Given the description of an element on the screen output the (x, y) to click on. 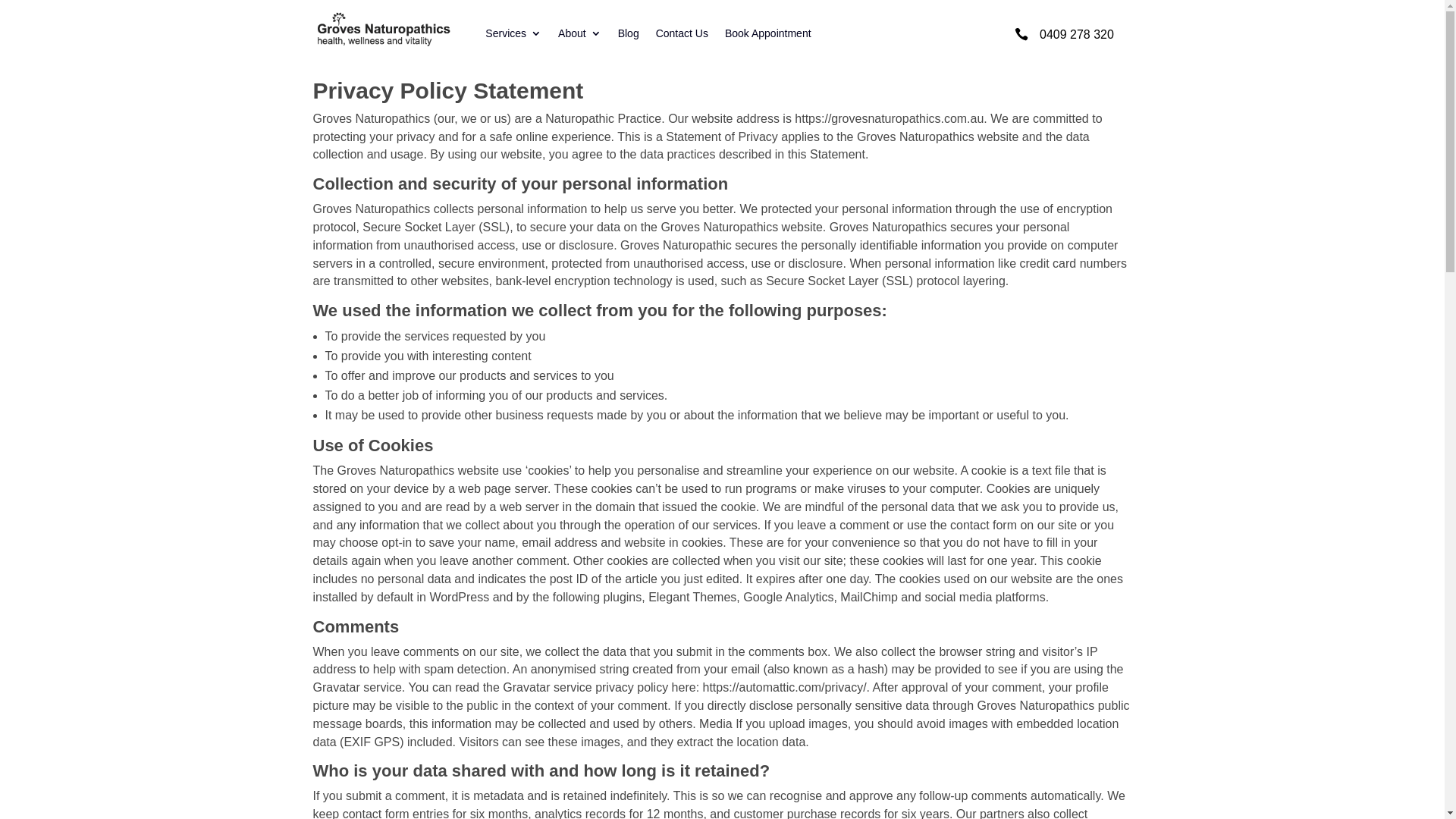
Blog Element type: text (628, 36)
GN Logo 1 Element type: hover (382, 29)
Book Appointment Element type: text (767, 36)
Contact Us Element type: text (681, 36)
About Element type: text (579, 36)
Services Element type: text (513, 36)
